Given the description of an element on the screen output the (x, y) to click on. 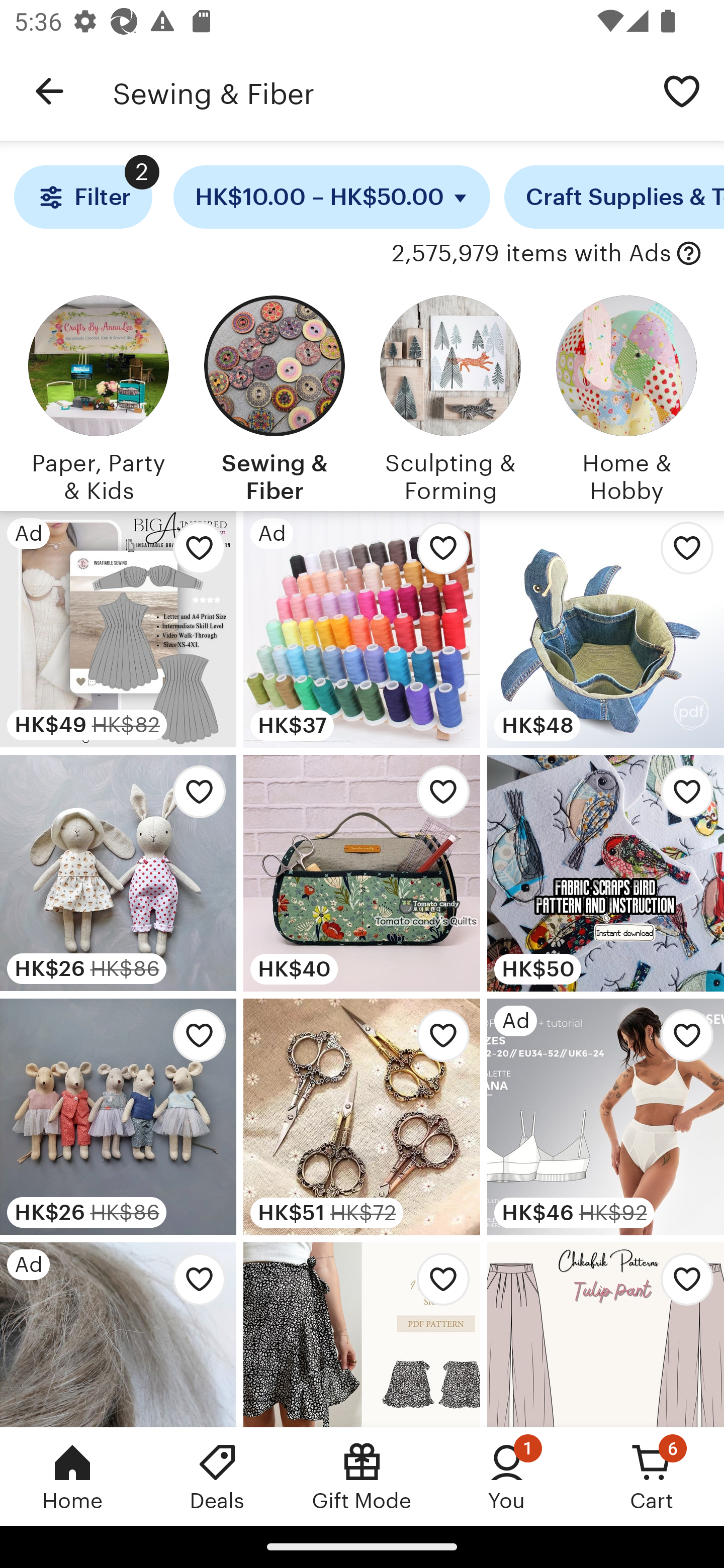
Navigate up (49, 91)
Save search (681, 90)
Sewing & Fiber (375, 91)
Filter (82, 197)
HK$10.00 – HK$50.00 (331, 197)
Craft Supplies & Tools (614, 197)
2,575,979 items with Ads (531, 253)
with Ads (688, 253)
Paper, Party & Kids (97, 395)
Sewing & Fiber (273, 395)
Sculpting & Forming (449, 395)
Home & Hobby (625, 395)
Deals (216, 1475)
Gift Mode (361, 1475)
You, 1 new notification You (506, 1475)
Cart, 6 new notifications Cart (651, 1475)
